Given the description of an element on the screen output the (x, y) to click on. 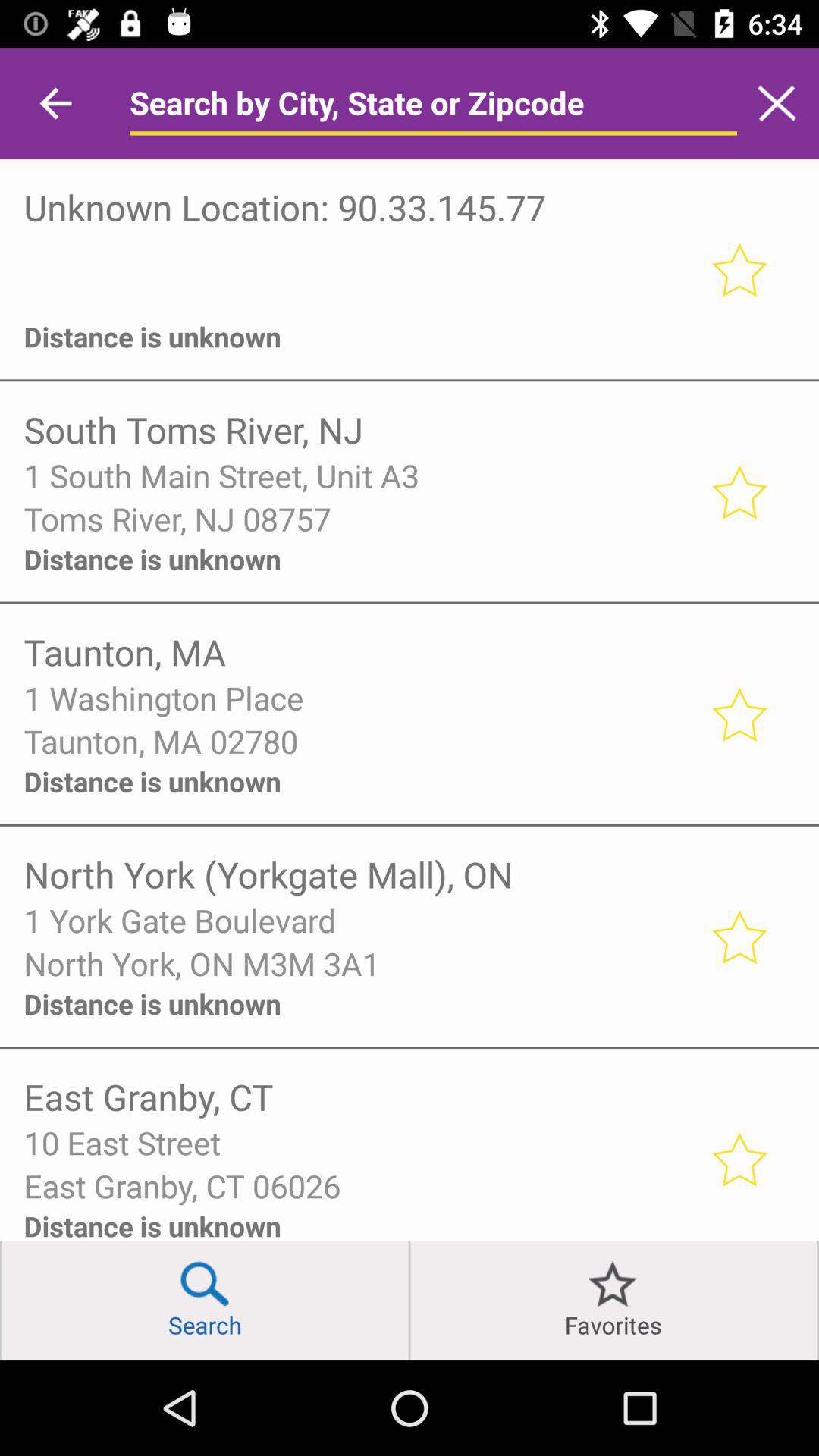
launch the icon below taunton, ma item (356, 697)
